Given the description of an element on the screen output the (x, y) to click on. 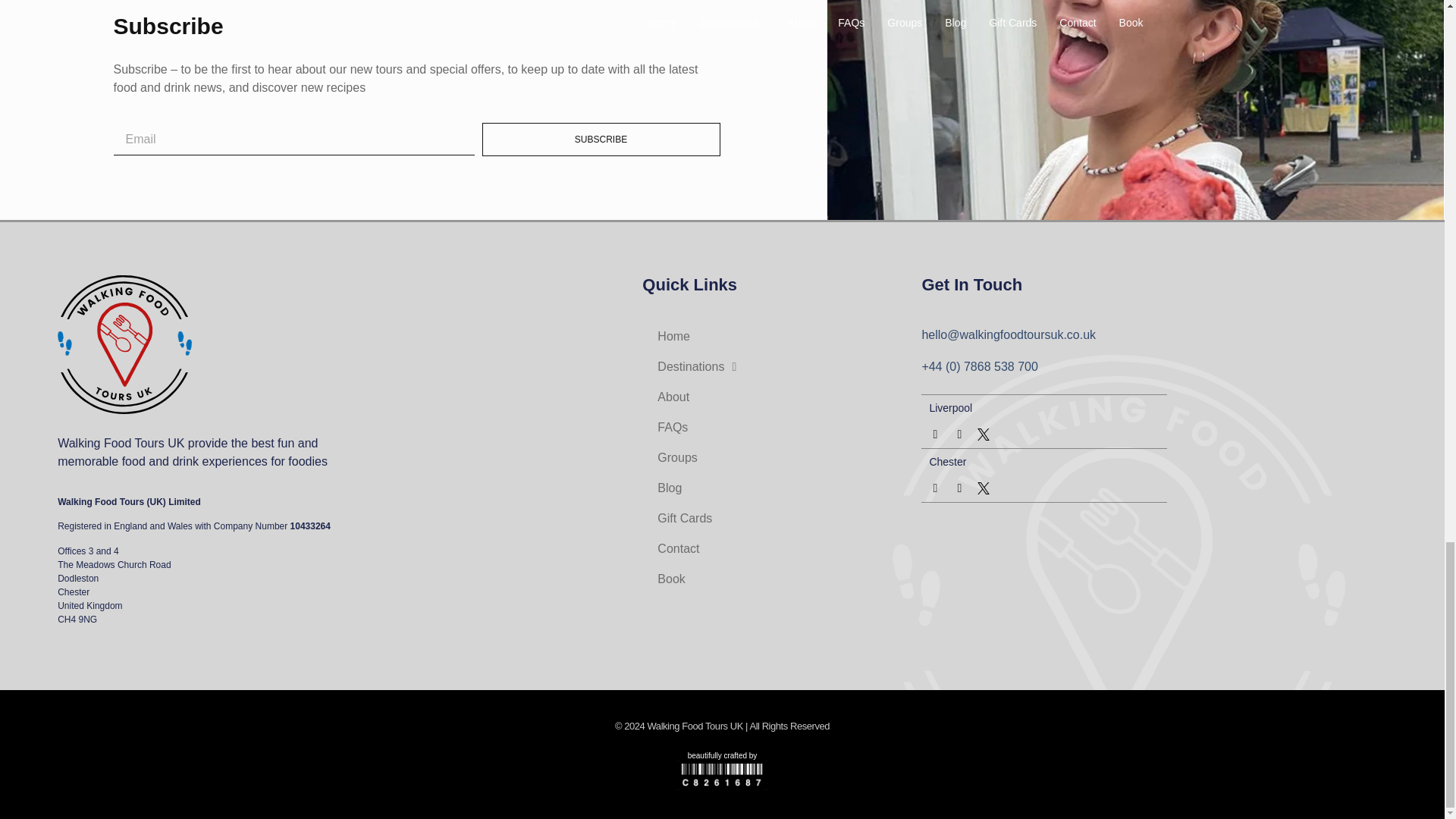
Destinations (781, 367)
Home (781, 336)
SUBSCRIBE (600, 139)
